Given the description of an element on the screen output the (x, y) to click on. 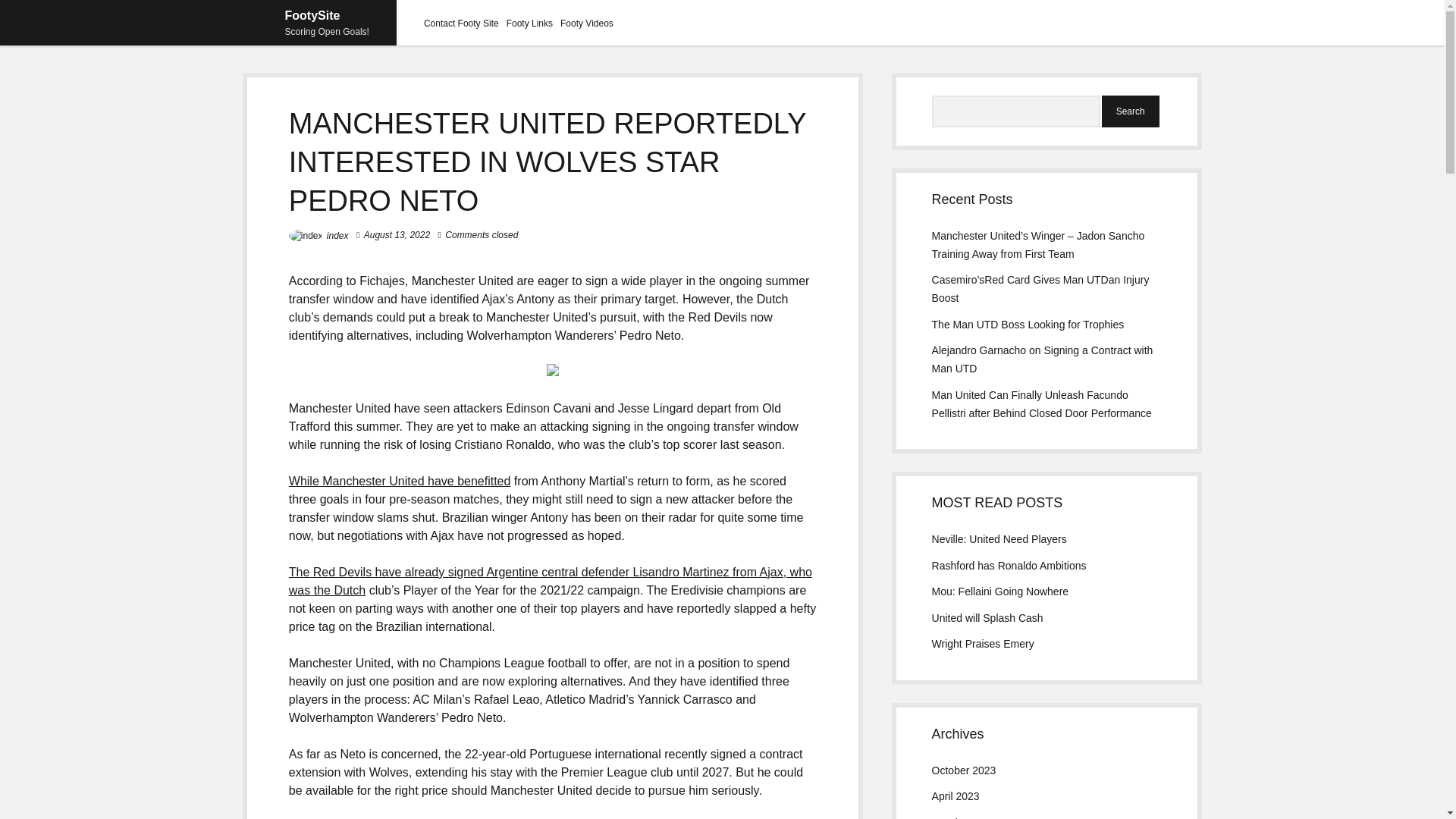
August 13, 2022 (396, 235)
Footy Links (529, 23)
Mou: Fellaini Going Nowhere (999, 591)
Wright Praises Emery (982, 644)
March 2023 (959, 817)
United will Splash Cash (987, 617)
Search (1130, 111)
The Man UTD Boss Looking for Trophies (1027, 324)
index (337, 235)
Search (1130, 111)
Rashford has Ronaldo Ambitions (1008, 565)
Footy Videos (586, 23)
FootySite (312, 15)
Alejandro Garnacho on Signing a Contract with Man UTD (1042, 358)
